Given the description of an element on the screen output the (x, y) to click on. 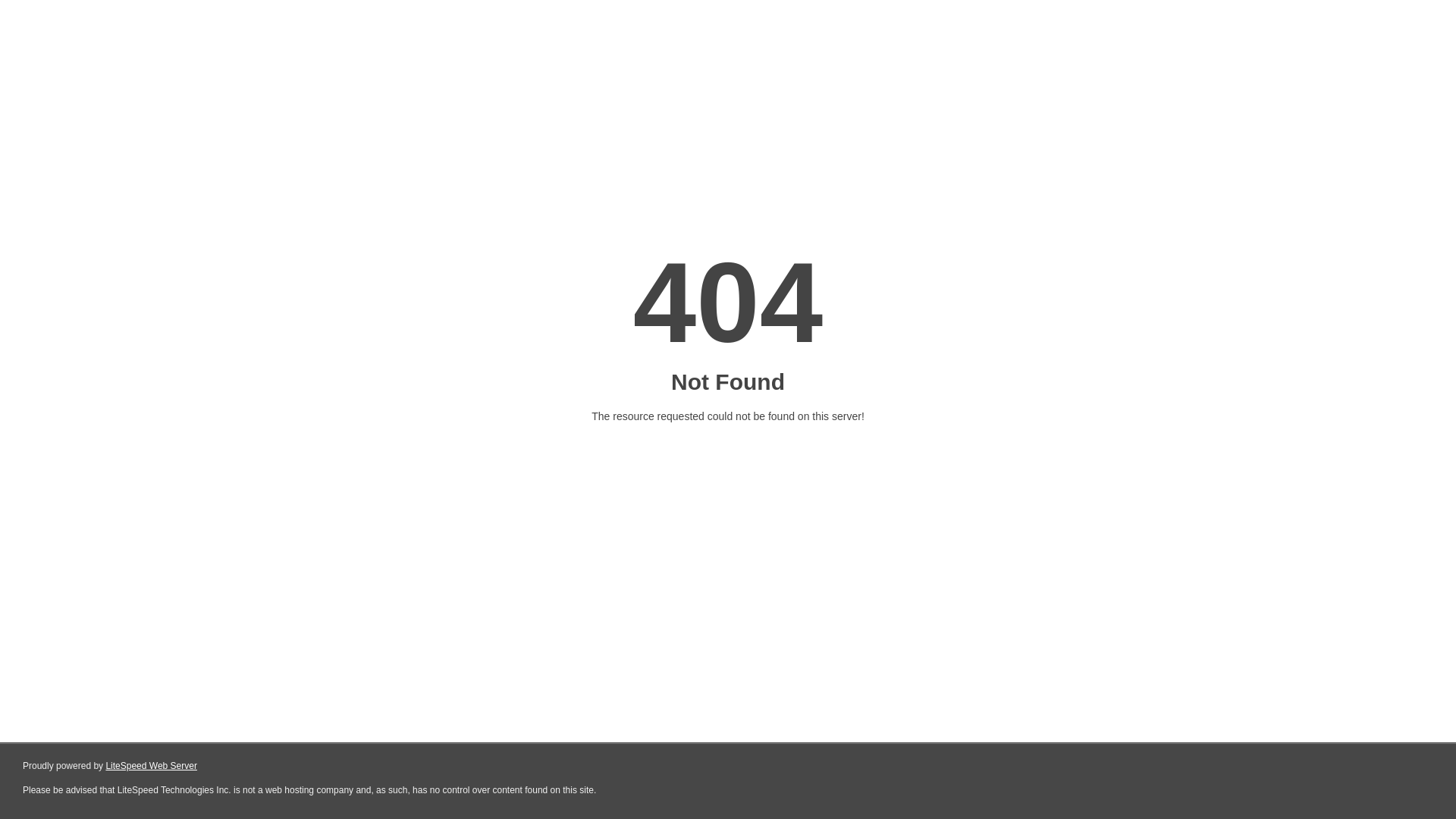
LiteSpeed Web Server Element type: text (151, 765)
